Given the description of an element on the screen output the (x, y) to click on. 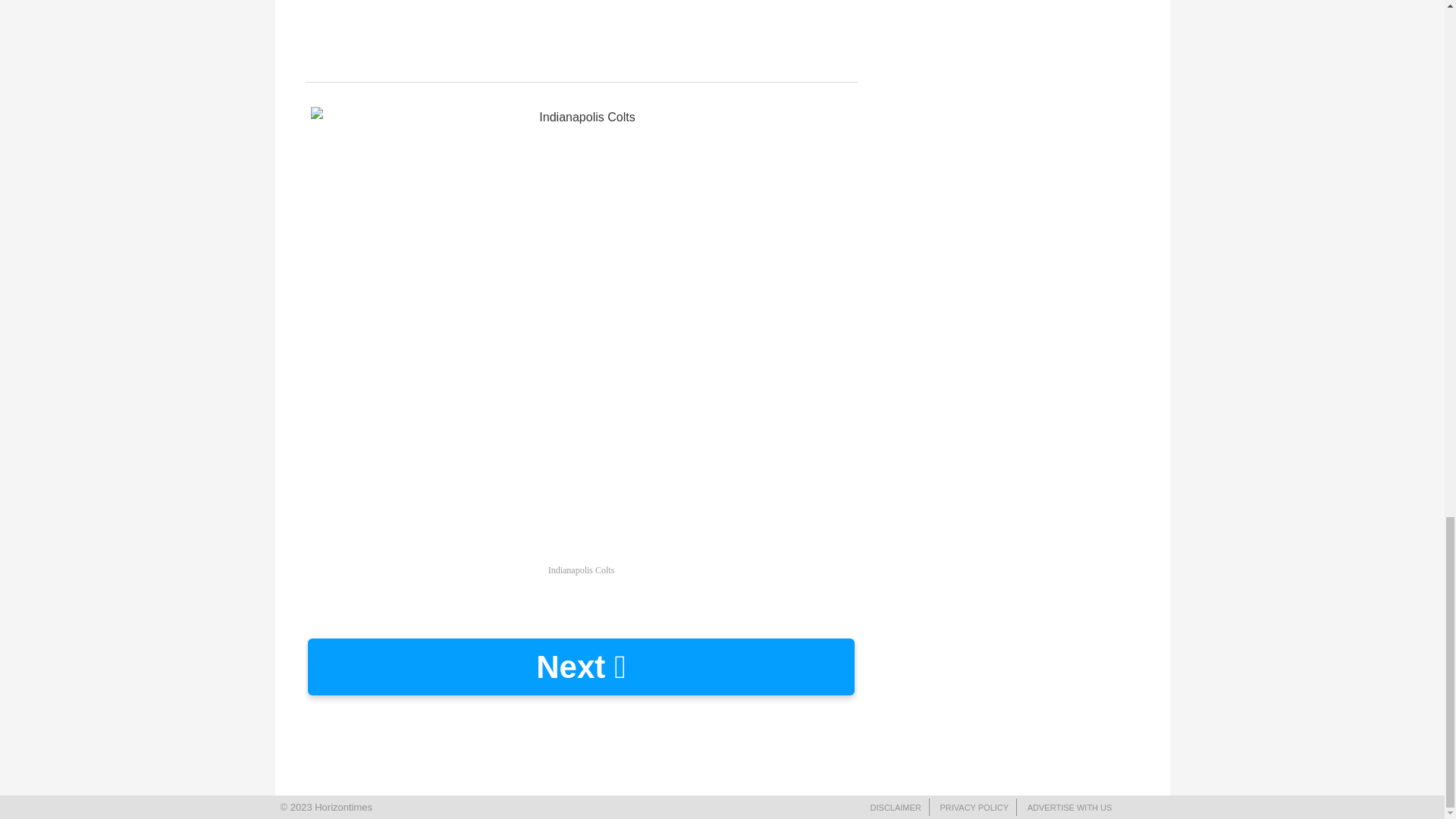
DISCLAIMER (895, 807)
Next (580, 666)
PRIVACY POLICY (974, 807)
ADVERTISE WITH US (1069, 807)
